Given the description of an element on the screen output the (x, y) to click on. 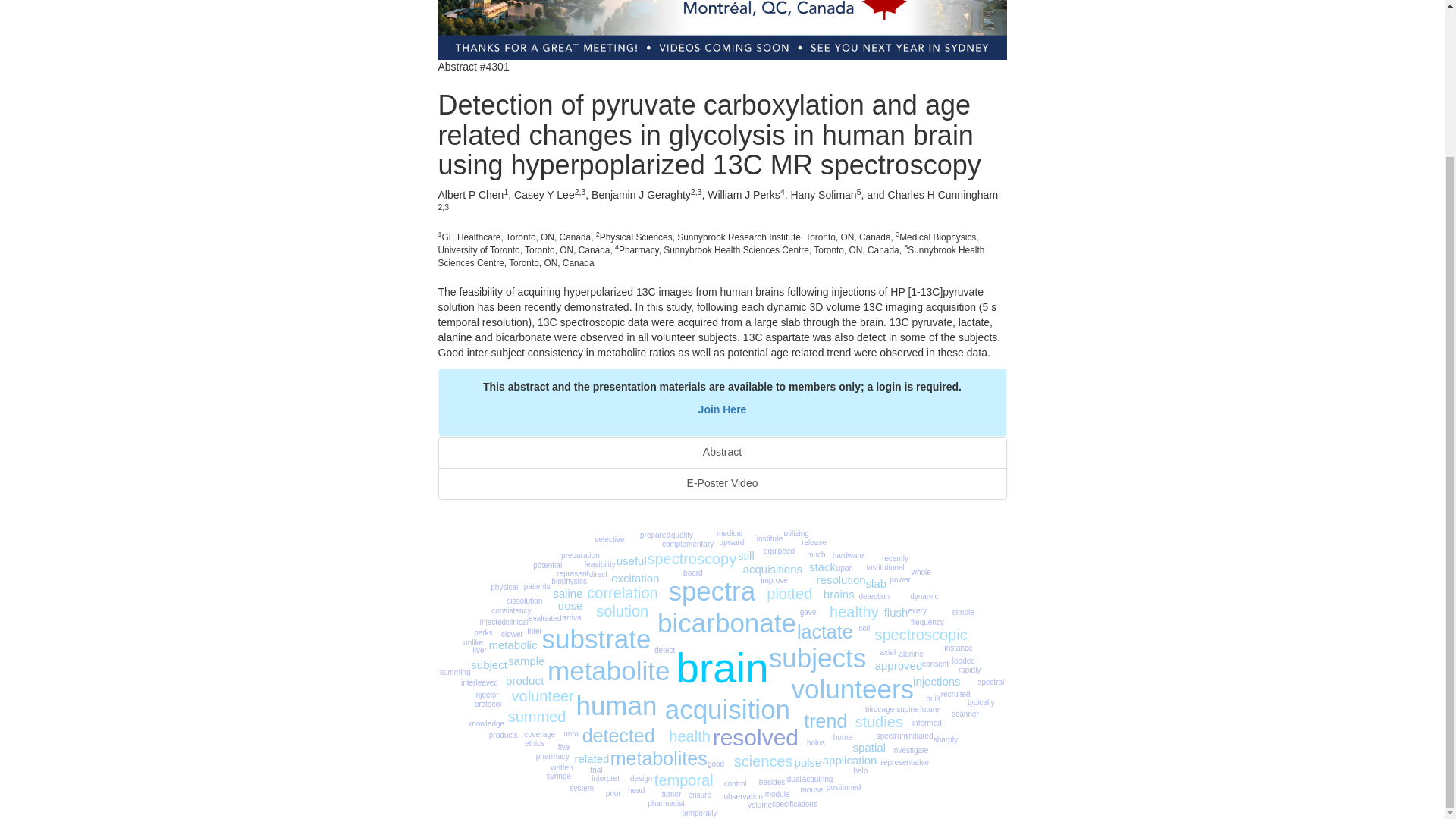
Abstract (722, 452)
Join Here (722, 409)
E-Poster Video (722, 483)
